Given the description of an element on the screen output the (x, y) to click on. 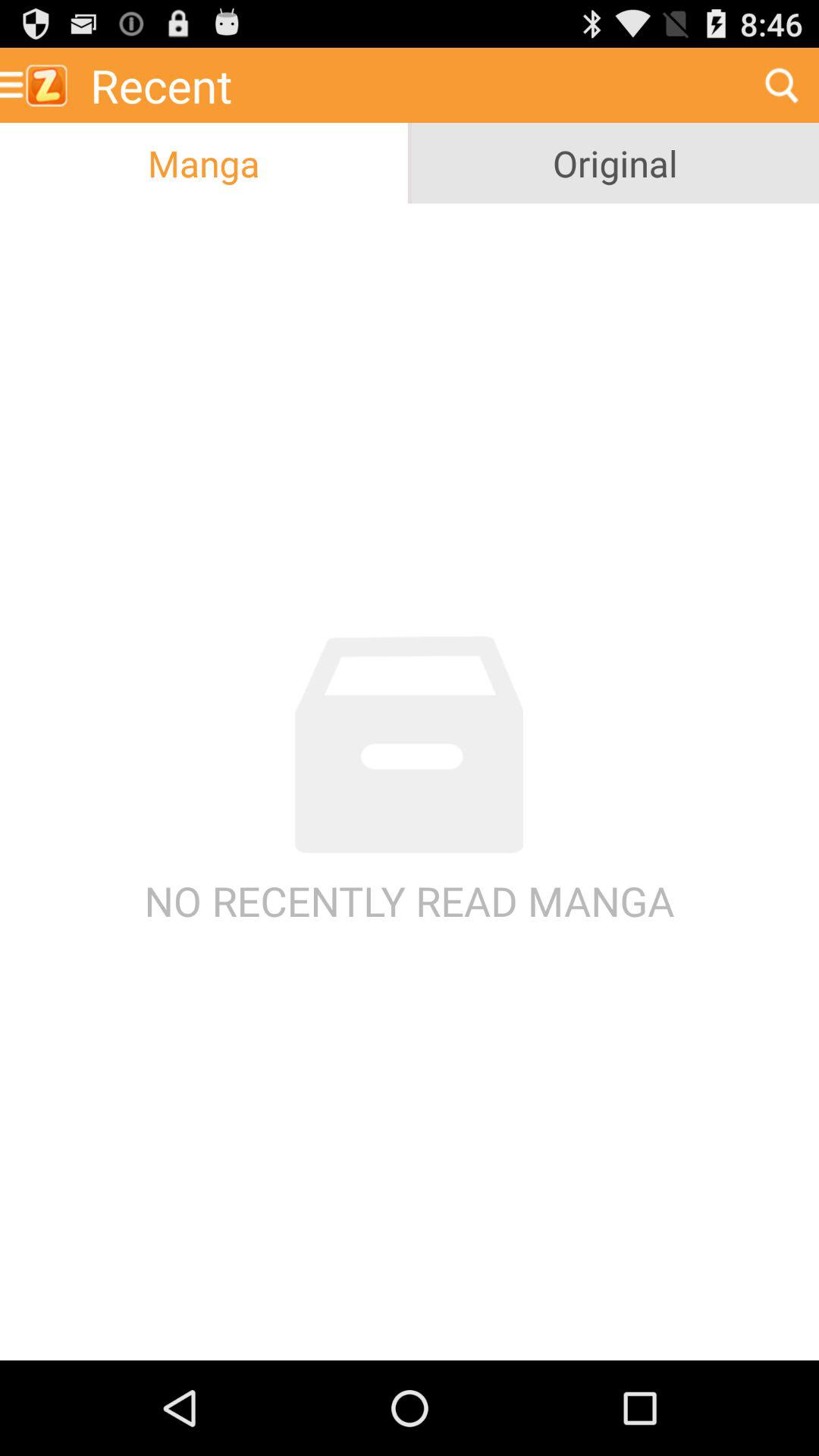
turn off original icon (615, 162)
